Given the description of an element on the screen output the (x, y) to click on. 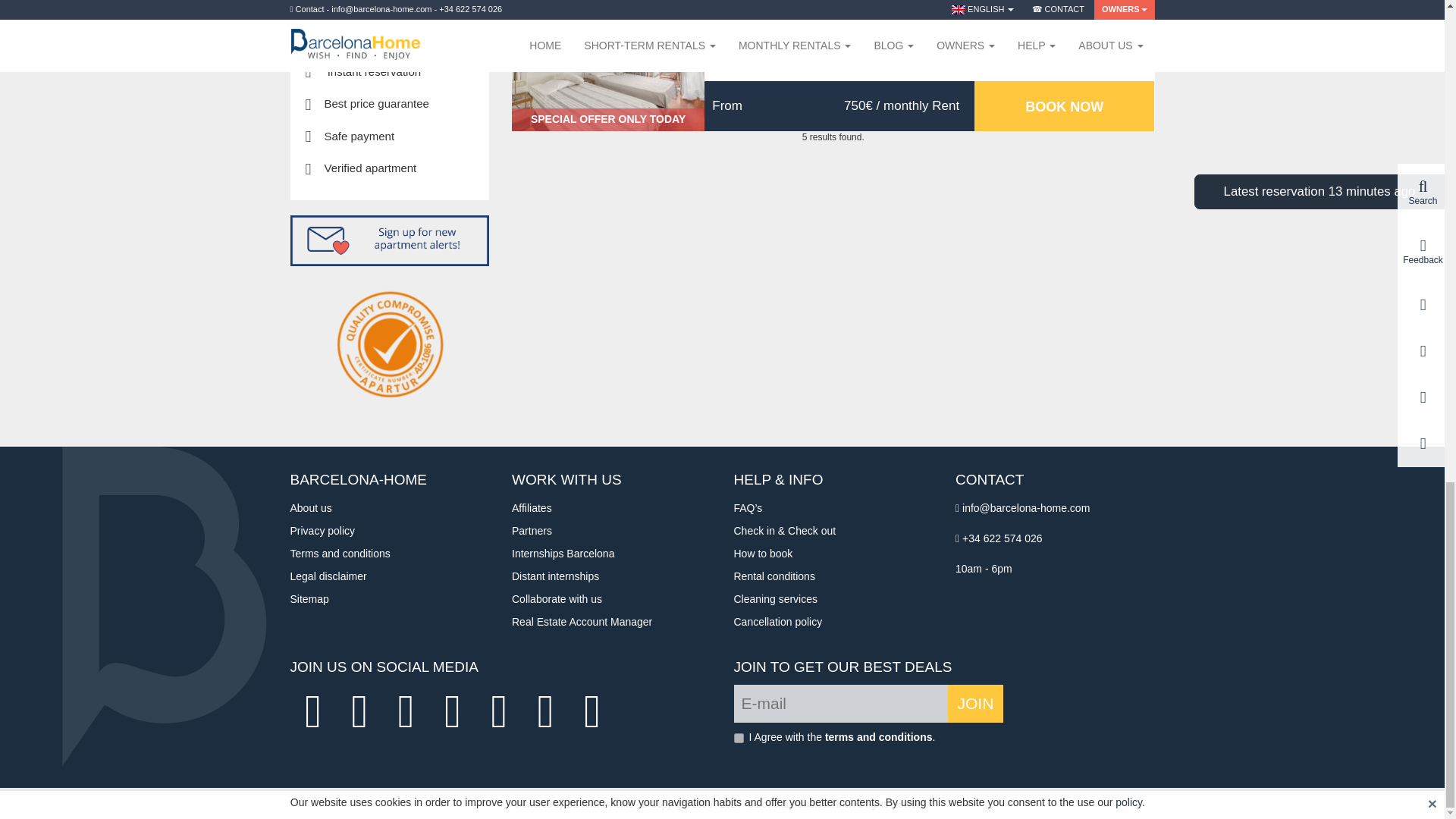
Huge bedroom in the upper Barcelona (608, 65)
Alerts-button (389, 240)
